Given the description of an element on the screen output the (x, y) to click on. 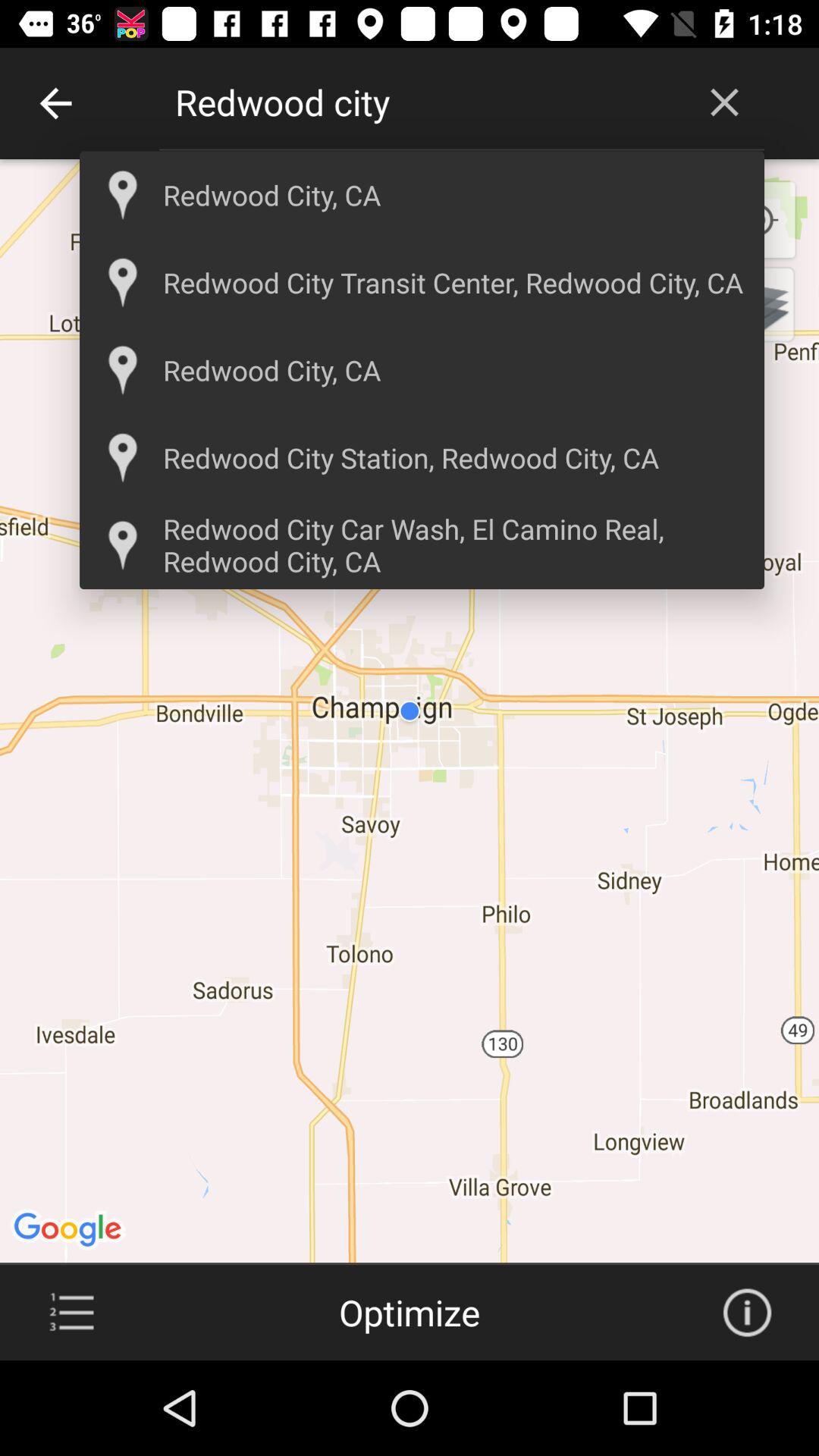
info (747, 1312)
